Given the description of an element on the screen output the (x, y) to click on. 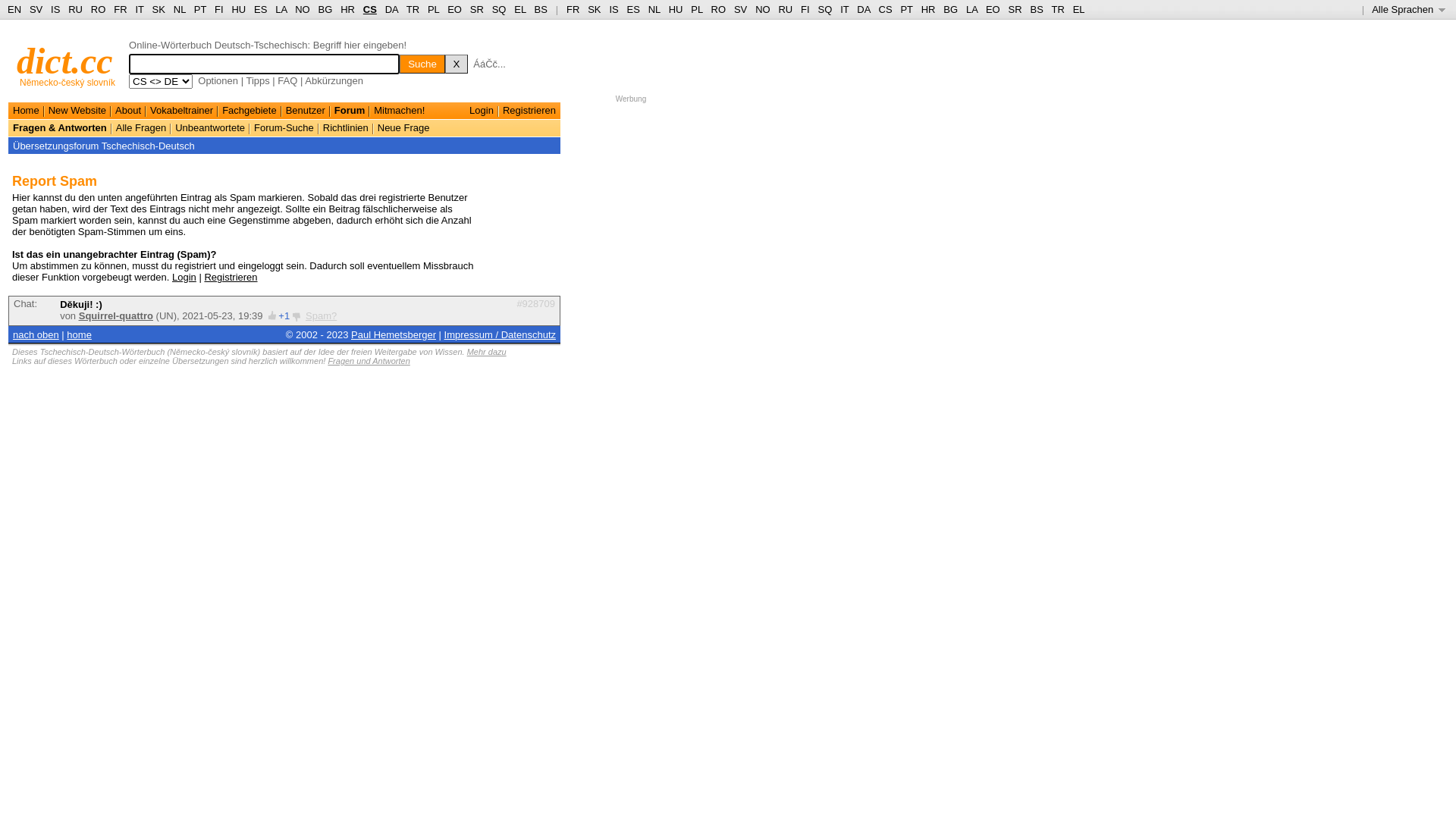
IS Element type: text (613, 9)
Alle Fragen Element type: text (141, 127)
Forum Element type: text (349, 110)
NO Element type: text (302, 9)
PT Element type: text (906, 9)
HR Element type: text (928, 9)
Login Element type: text (481, 110)
RU Element type: text (75, 9)
TR Element type: text (412, 9)
Richtlinien Element type: text (345, 127)
PT Element type: text (200, 9)
Suche Element type: text (422, 63)
RO Element type: text (718, 9)
BG Element type: text (950, 9)
HR Element type: text (347, 9)
HU Element type: text (238, 9)
SR Element type: text (1015, 9)
HU Element type: text (675, 9)
NL Element type: text (179, 9)
Registrieren Element type: text (230, 276)
CS Element type: text (369, 9)
#928709 Element type: text (535, 302)
home Element type: text (78, 334)
dict.cc Element type: text (64, 60)
FAQ Element type: text (287, 80)
Tipps Element type: text (257, 80)
LA Element type: text (971, 9)
RO Element type: text (98, 9)
Home Element type: text (25, 110)
Fragen und Antworten Element type: text (368, 360)
IT Element type: text (844, 9)
SQ Element type: text (499, 9)
Fachgebiete Element type: text (249, 110)
FR Element type: text (572, 9)
IS Element type: text (54, 9)
Impressum / Datenschutz Element type: text (499, 334)
EN Element type: text (14, 9)
DA Element type: text (862, 9)
Fragen & Antworten Element type: text (59, 127)
CS Element type: text (884, 9)
SQ Element type: text (824, 9)
EO Element type: text (454, 9)
+1 Element type: text (283, 315)
Paul Hemetsberger Element type: text (393, 334)
X Element type: text (456, 63)
EL Element type: text (519, 9)
Alle Sprachen  Element type: text (1408, 9)
FI Element type: text (804, 9)
Spam? Element type: text (320, 315)
NL Element type: text (654, 9)
LA Element type: text (280, 9)
Optionen Element type: text (217, 80)
Mehr dazu Element type: text (486, 351)
Benutzer Element type: text (305, 110)
PL Element type: text (433, 9)
Login Element type: text (184, 276)
DA Element type: text (391, 9)
FR Element type: text (119, 9)
SV Element type: text (35, 9)
BG Element type: text (325, 9)
nach oben Element type: text (35, 334)
SV Element type: text (740, 9)
PL Element type: text (696, 9)
IT Element type: text (138, 9)
TR Element type: text (1057, 9)
ES Element type: text (260, 9)
RU Element type: text (785, 9)
Squirrel-quattro Element type: text (115, 315)
Vokabeltrainer Element type: text (181, 110)
Mitmachen! Element type: text (398, 110)
New Website Element type: text (77, 110)
NO Element type: text (762, 9)
EO Element type: text (992, 9)
Forum-Suche Element type: text (283, 127)
About Element type: text (128, 110)
FI Element type: text (218, 9)
SR Element type: text (476, 9)
ES Element type: text (633, 9)
Unbeantwortete Element type: text (209, 127)
BS Element type: text (540, 9)
SK Element type: text (158, 9)
SK Element type: text (593, 9)
Registrieren Element type: text (528, 110)
Neue Frage Element type: text (403, 127)
BS Element type: text (1035, 9)
EL Element type: text (1079, 9)
